Given the description of an element on the screen output the (x, y) to click on. 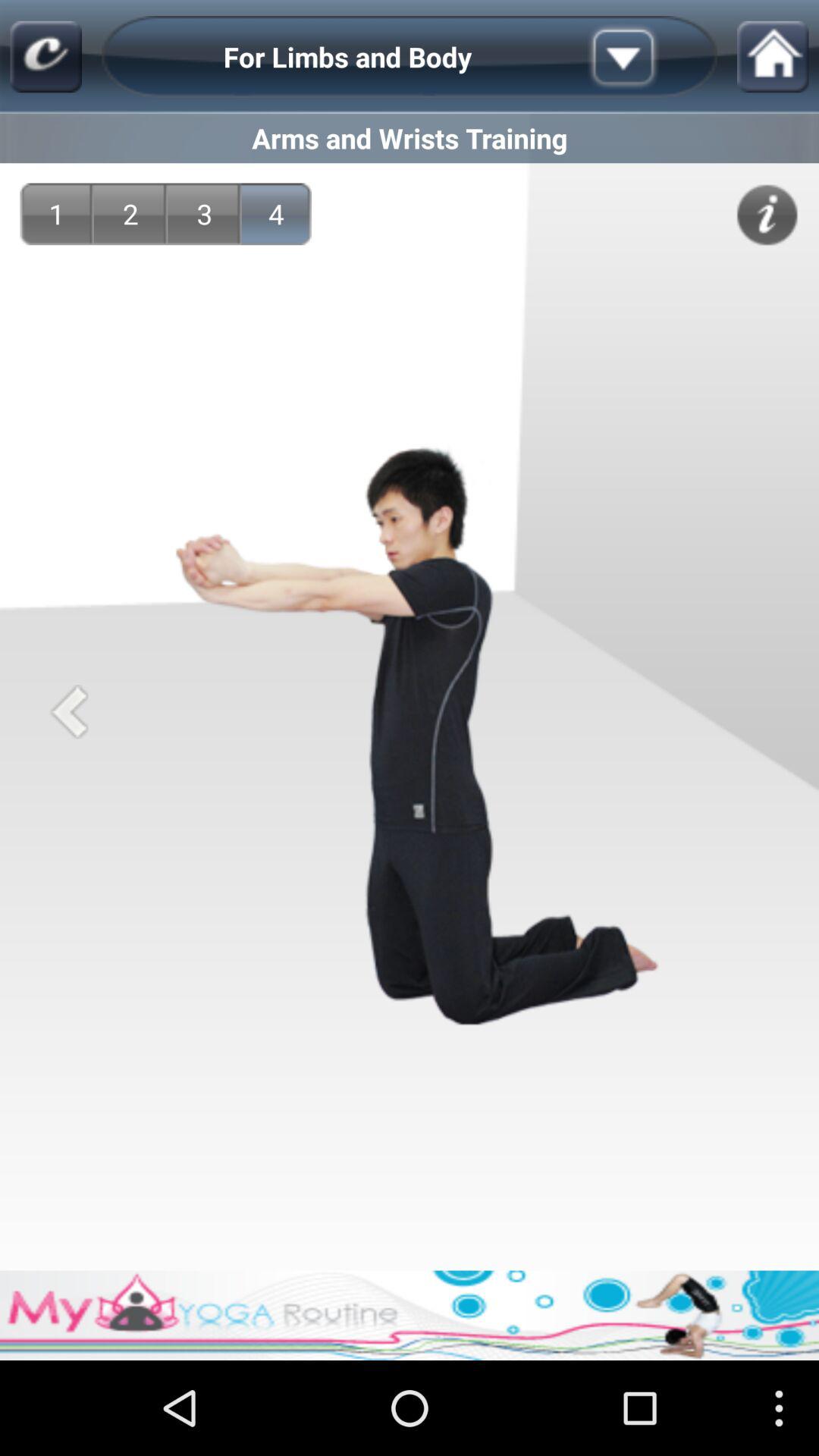
jump to 2 (130, 214)
